Given the description of an element on the screen output the (x, y) to click on. 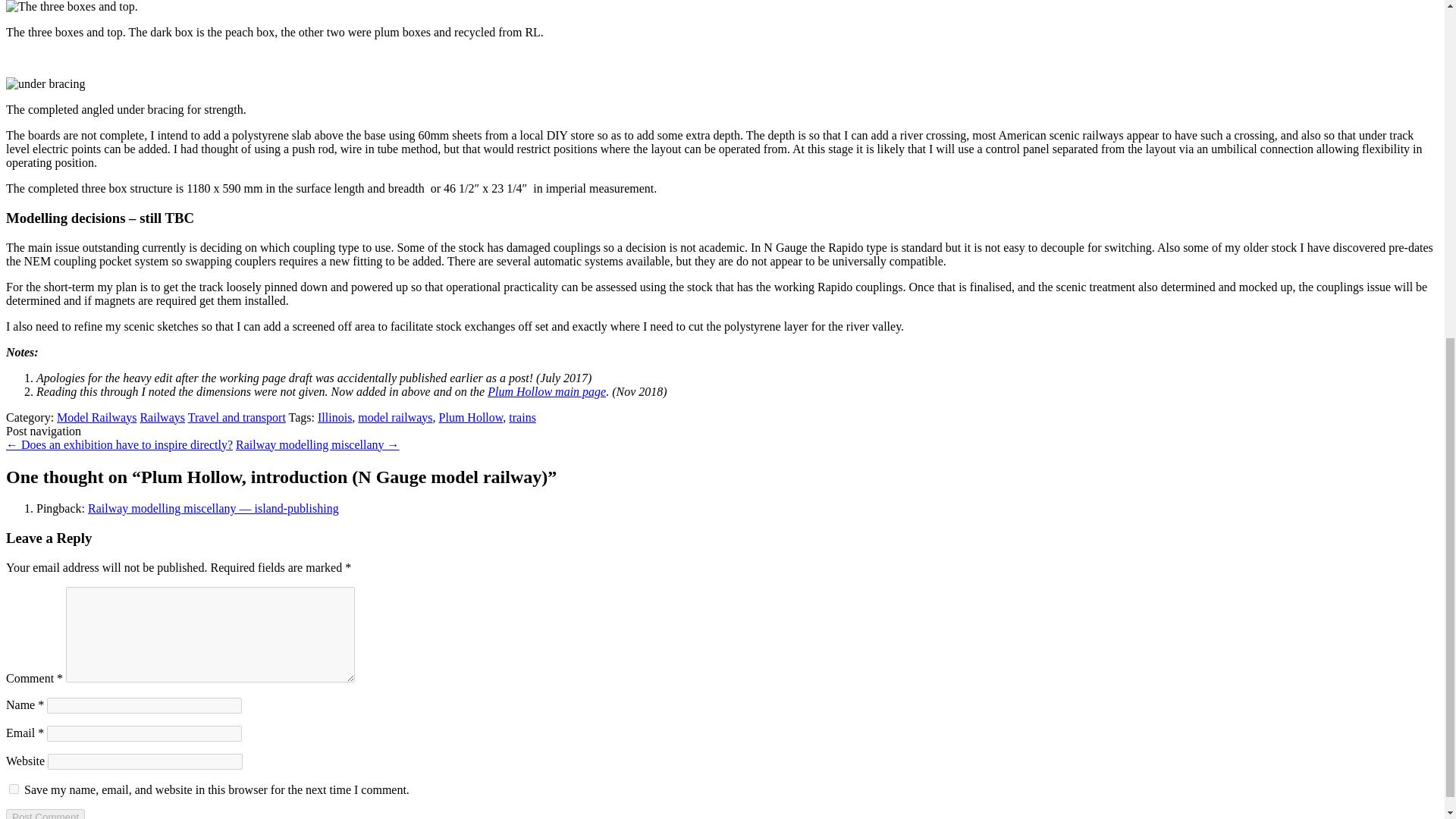
Plum Hollow main page (546, 391)
Plum Hollow (471, 417)
model railways (395, 417)
Model Railways (96, 417)
trains (521, 417)
Travel and transport (236, 417)
Railways (161, 417)
Illinois (334, 417)
yes (13, 788)
